Given the description of an element on the screen output the (x, y) to click on. 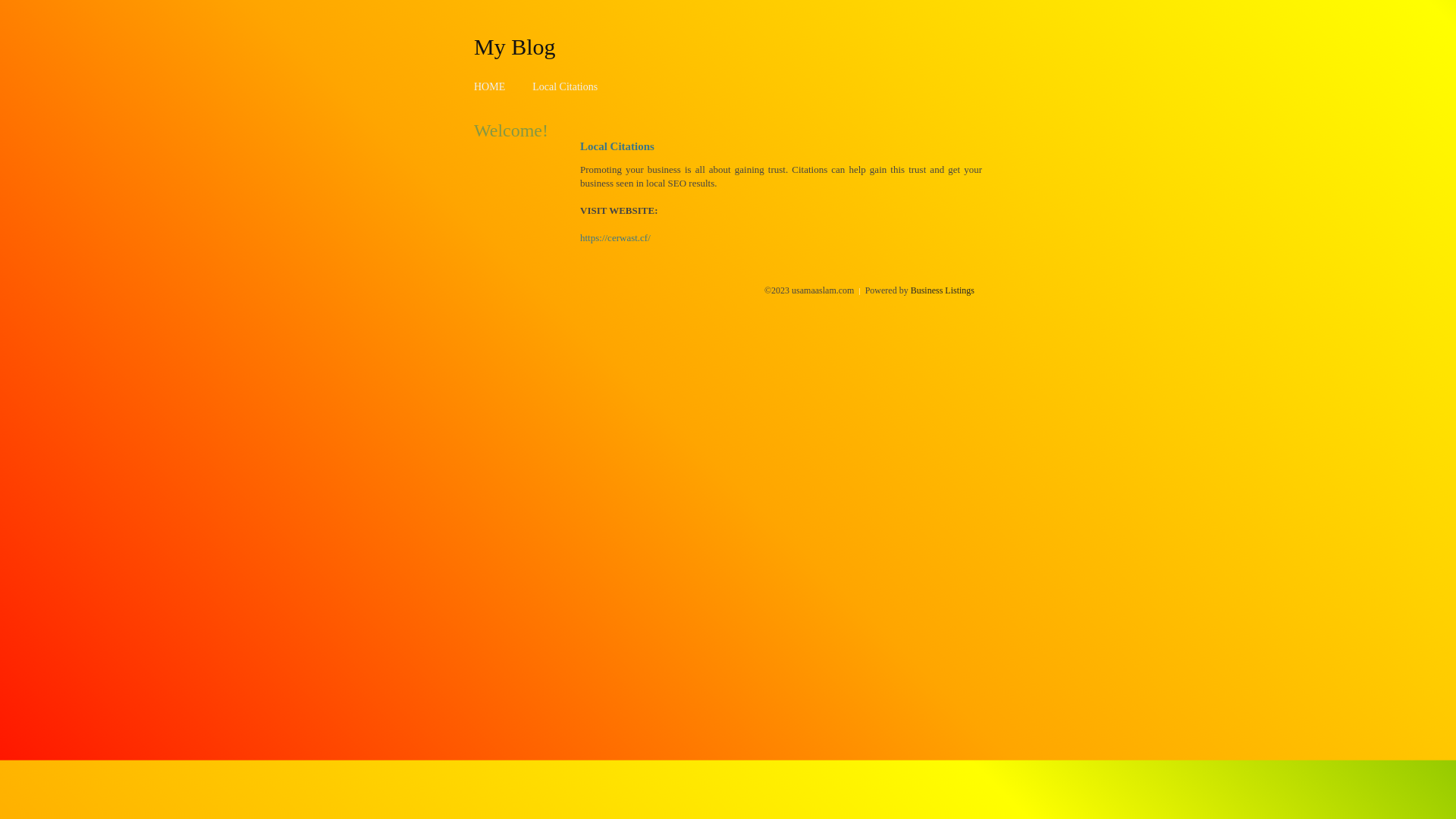
My Blog Element type: text (514, 46)
Business Listings Element type: text (942, 290)
Local Citations Element type: text (564, 86)
https://cerwast.cf/ Element type: text (615, 237)
HOME Element type: text (489, 86)
